Given the description of an element on the screen output the (x, y) to click on. 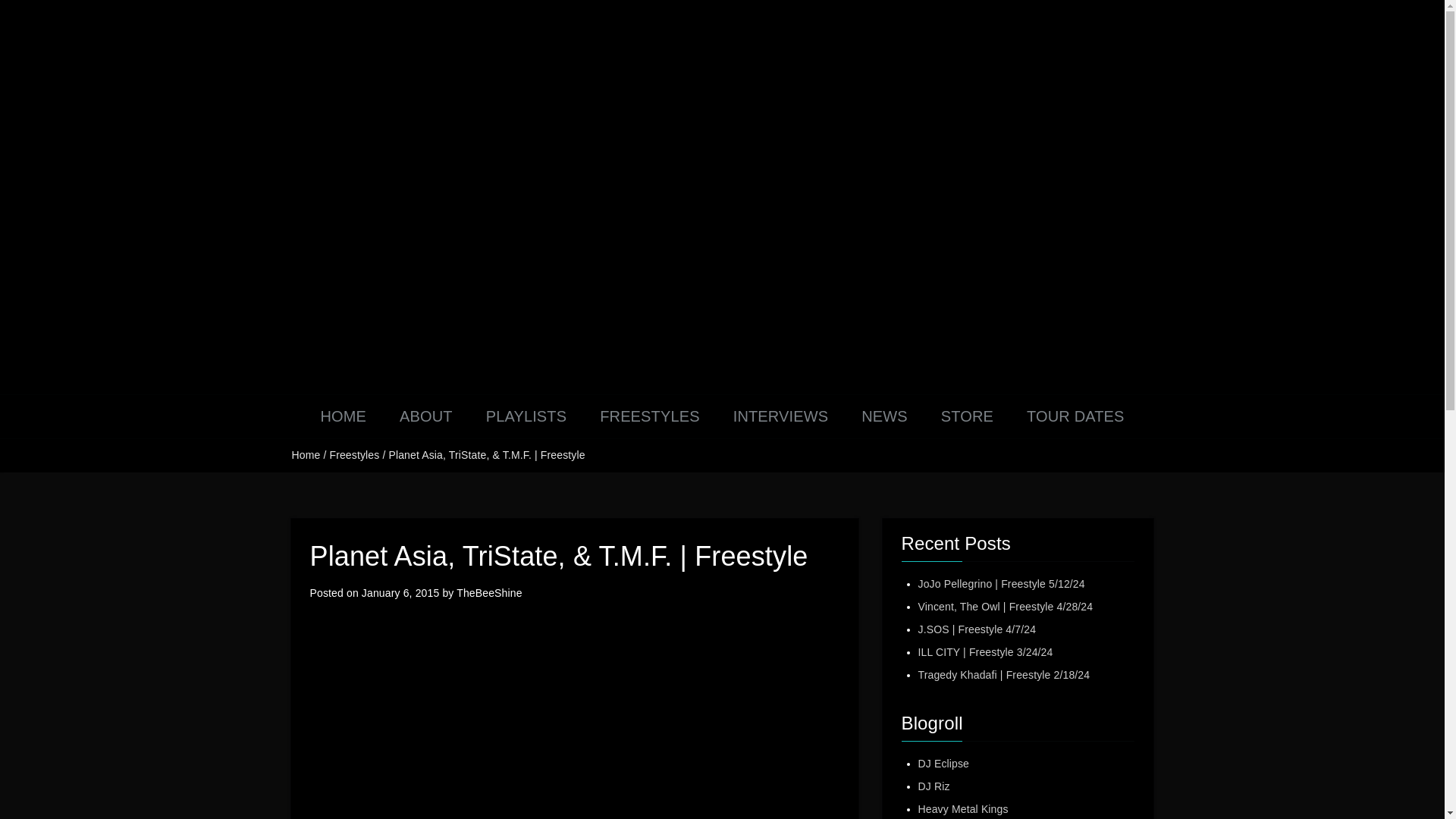
STORE (967, 416)
January 6, 2015 (400, 592)
DJ Eclipse (943, 763)
TOUR DATES (1074, 416)
DJ Riz (933, 786)
INTERVIEWS (780, 416)
Heavy Metal Kings (962, 808)
ABOUT (425, 416)
PLAYLISTS (526, 416)
TheBeeShine (489, 592)
